Given the description of an element on the screen output the (x, y) to click on. 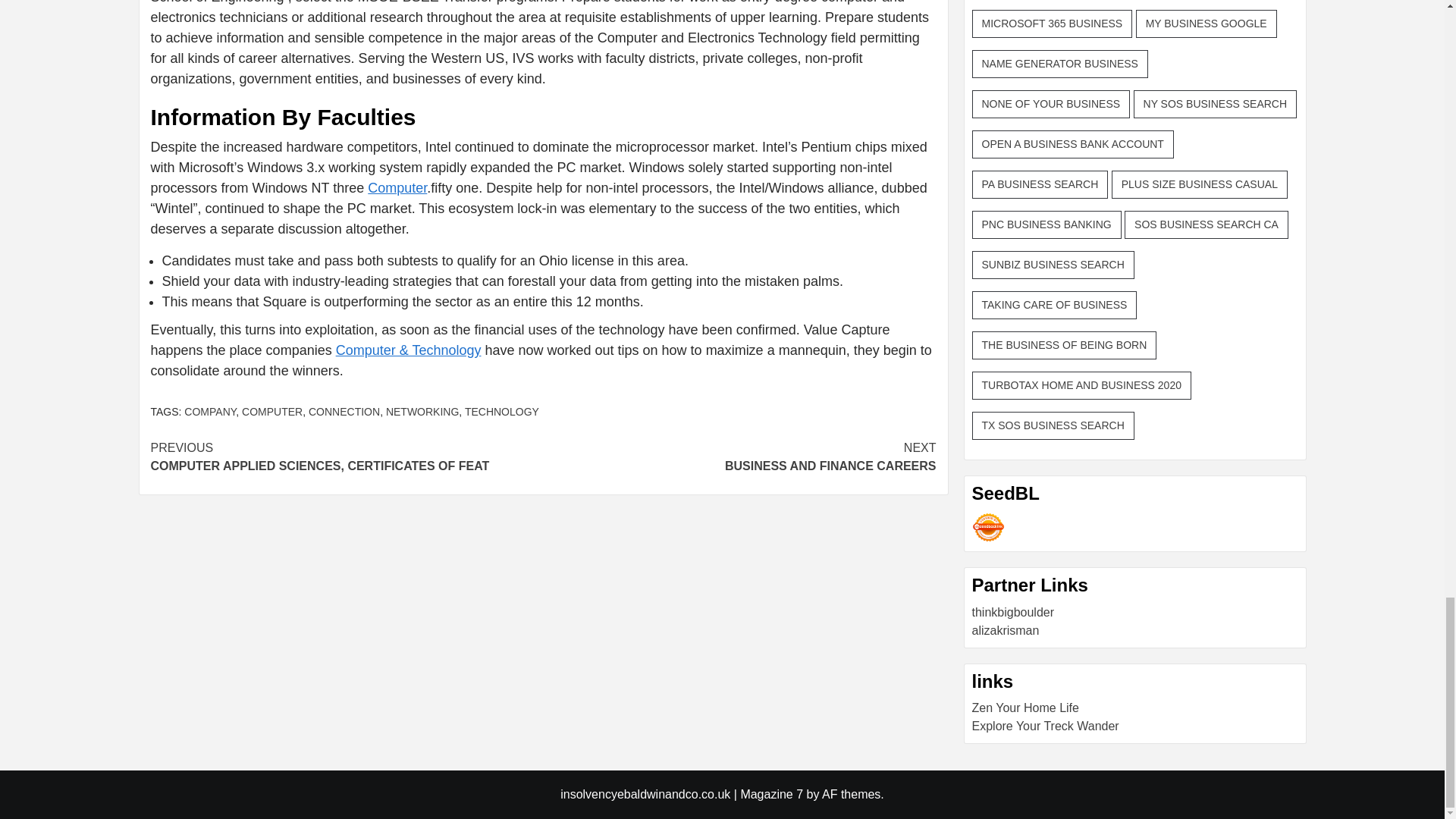
TECHNOLOGY (501, 411)
Computer (397, 187)
Seedbacklink (988, 527)
CONNECTION (344, 411)
NETWORKING (739, 456)
COMPANY (421, 411)
COMPUTER (209, 411)
